Given the description of an element on the screen output the (x, y) to click on. 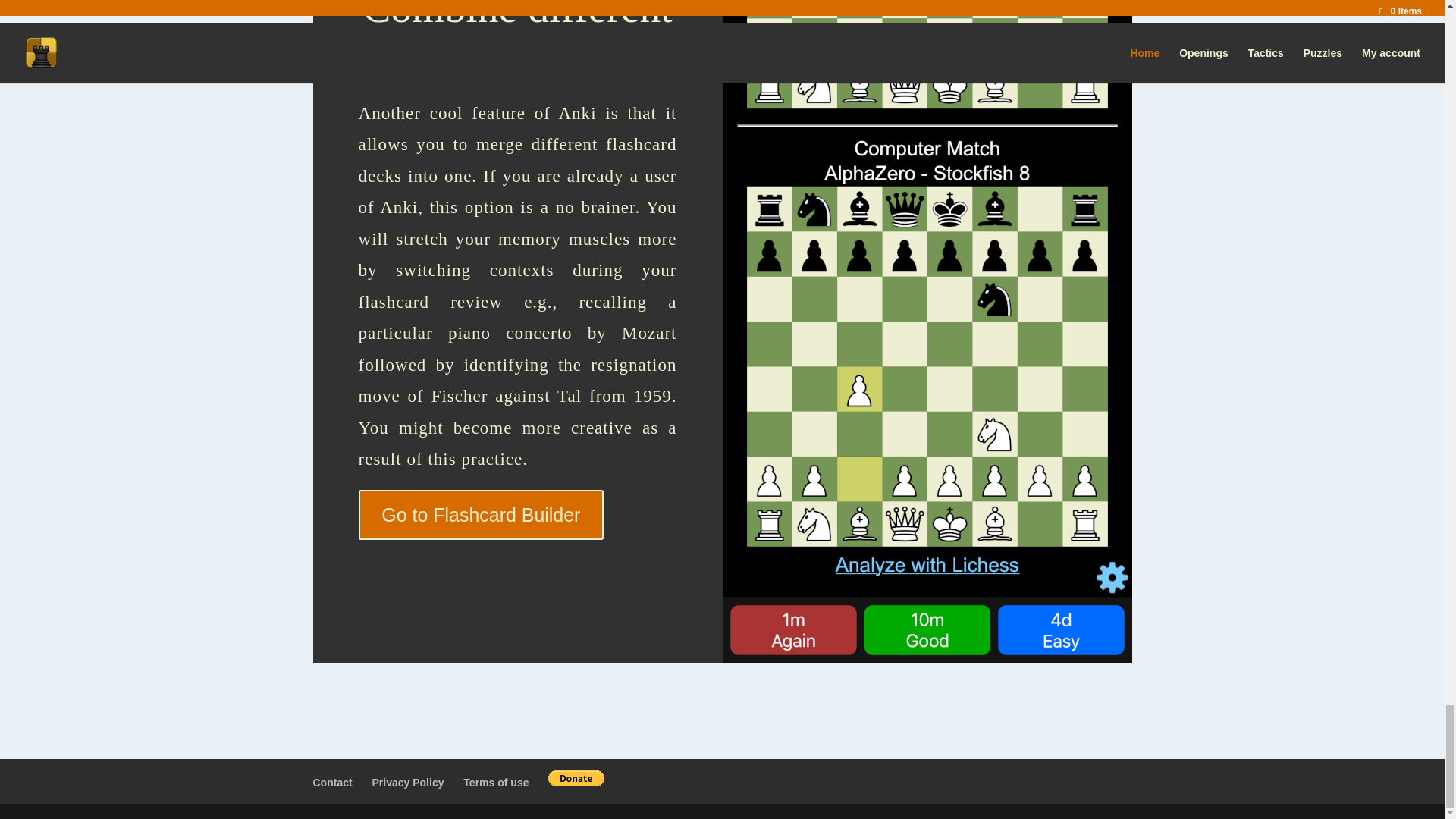
Contact (332, 782)
Terms of use (495, 782)
PayPal - The safer, easier way to pay online! (576, 778)
Privacy Policy (408, 782)
Go to Flashcard Builder (481, 514)
